Given the description of an element on the screen output the (x, y) to click on. 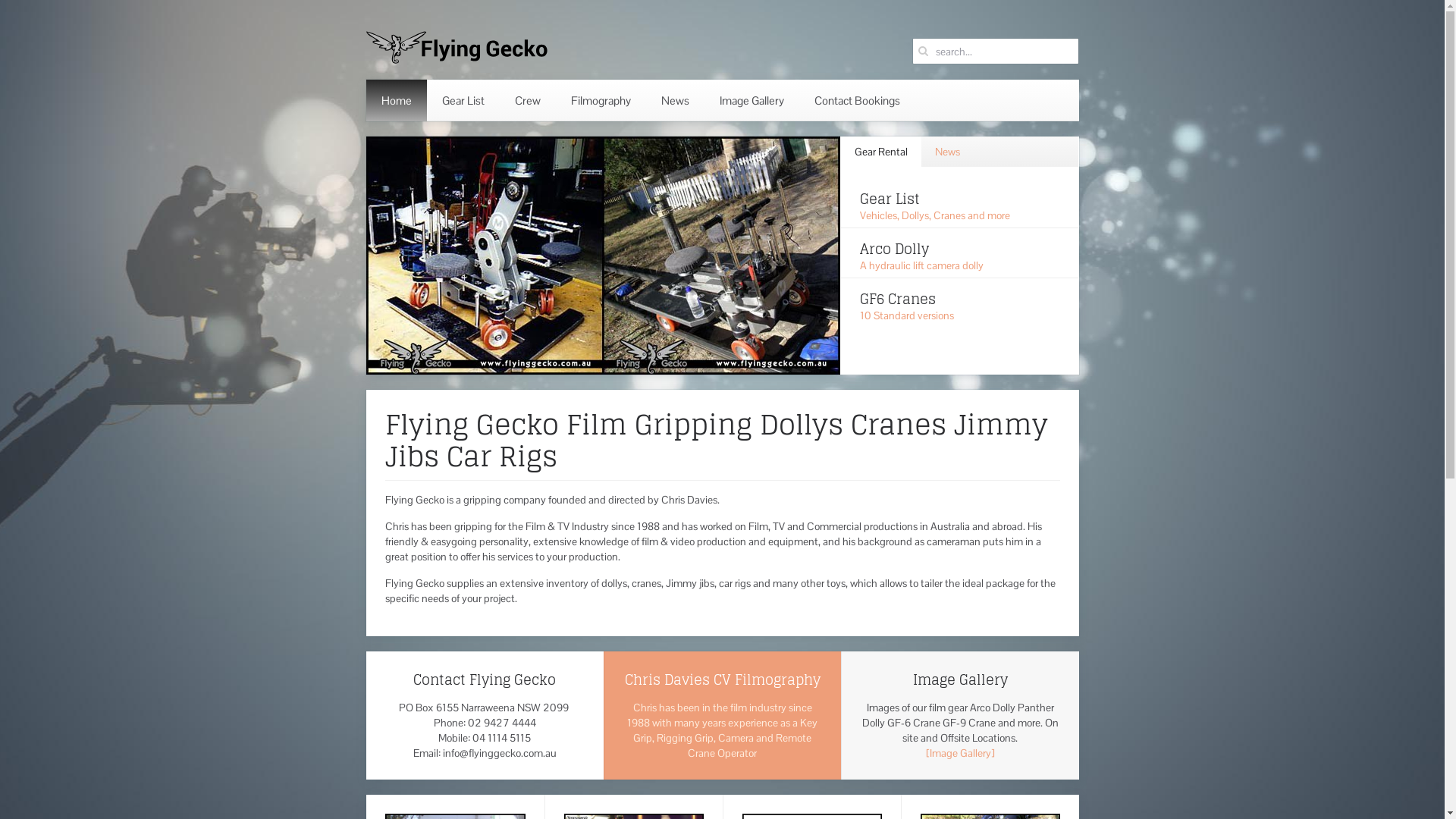
Gear Rental Element type: text (880, 151)
News Element type: text (947, 151)
Image Gallery Element type: text (750, 100)
10 Standard versions Element type: text (906, 315)
Vehicles, Dollys, Cranes and more Element type: text (934, 215)
Gear List Element type: text (462, 100)
A hydraulic lift camera dolly Element type: text (921, 265)
Filmography Element type: text (600, 100)
[Image Gallery] Element type: text (959, 752)
News Element type: text (675, 100)
Contact Bookings Element type: text (857, 100)
Crew Element type: text (526, 100)
Home Element type: text (395, 100)
